Given the description of an element on the screen output the (x, y) to click on. 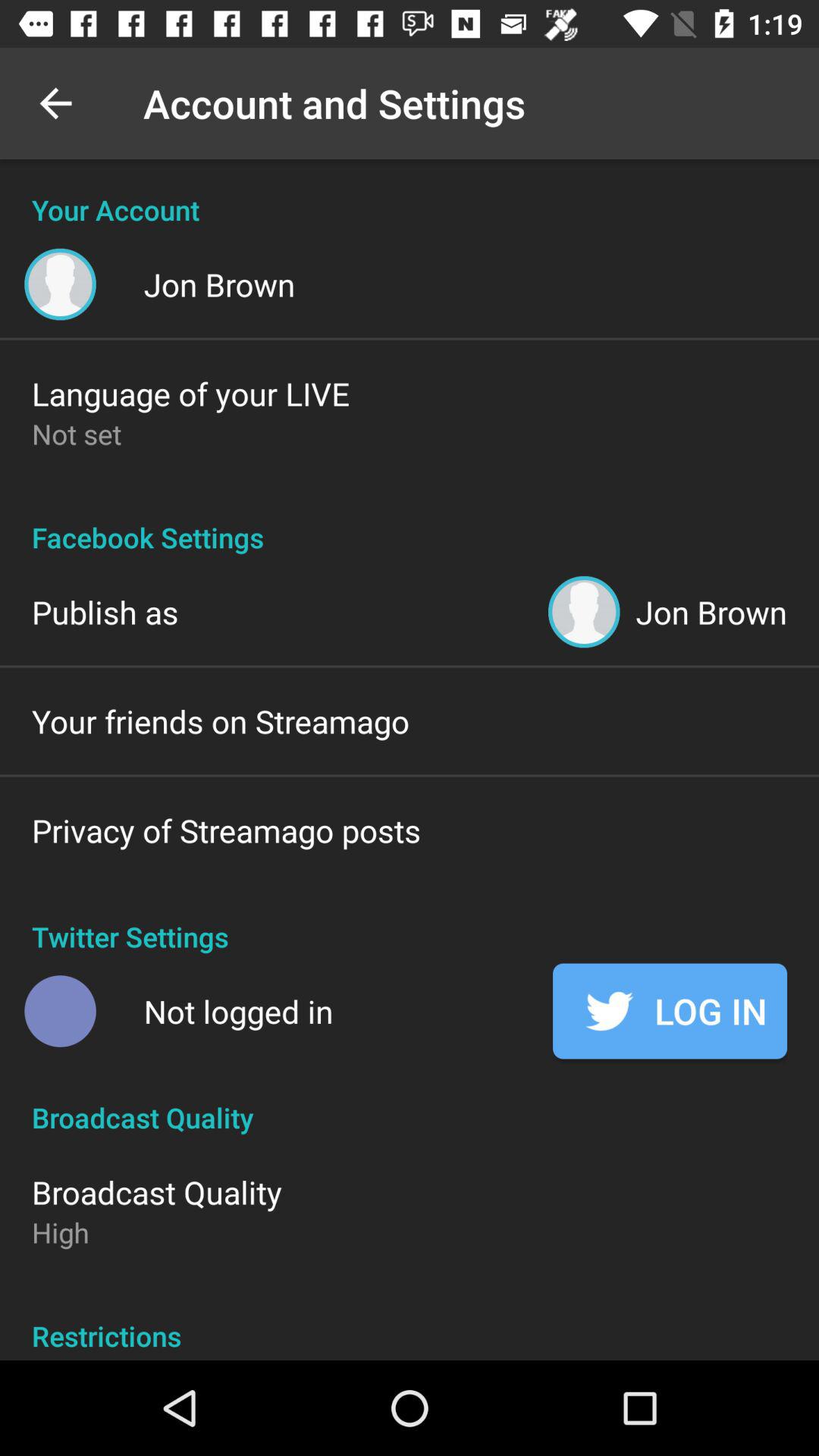
press item below the high (409, 1319)
